Given the description of an element on the screen output the (x, y) to click on. 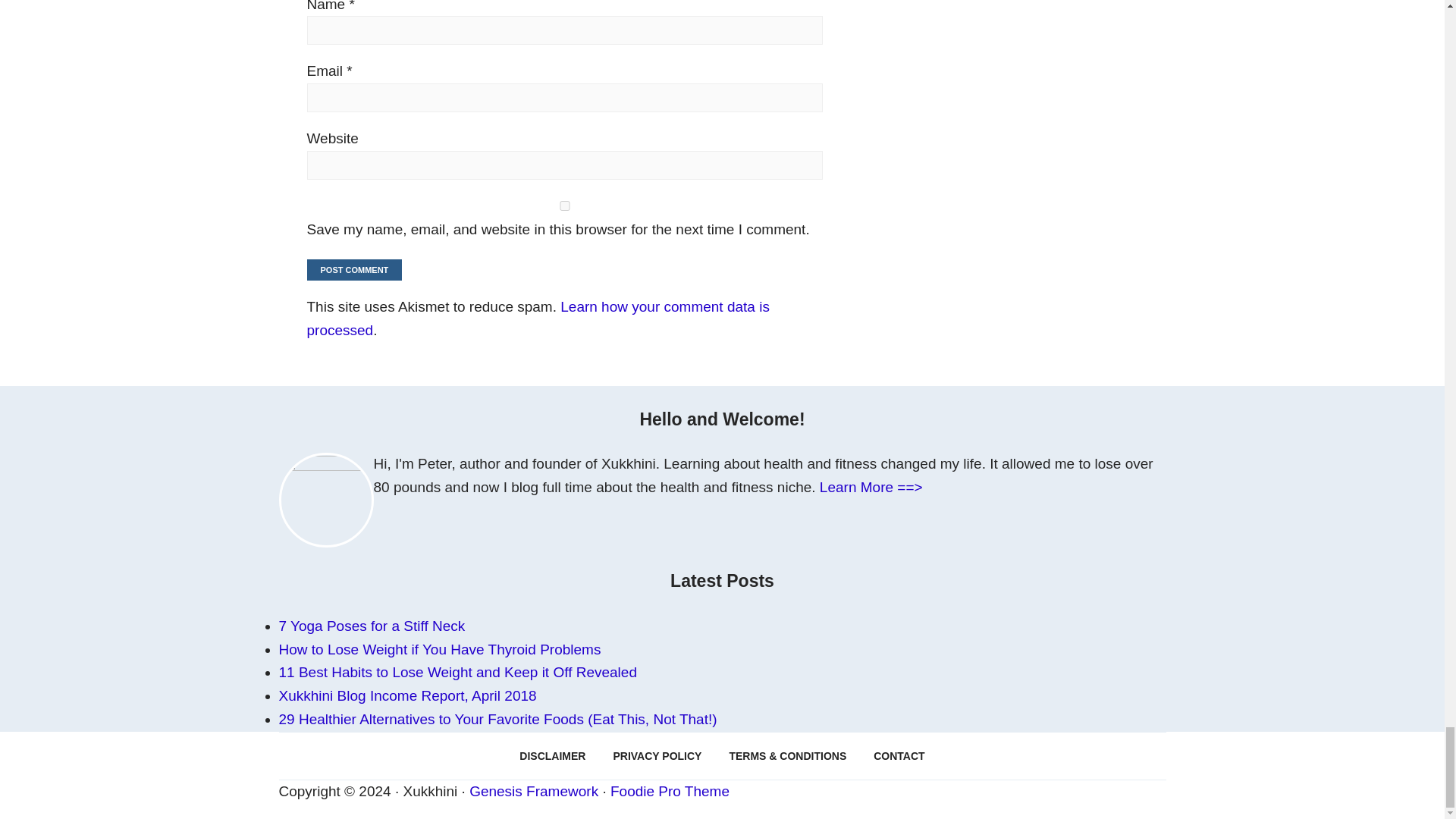
yes (563, 205)
Post Comment (353, 269)
